Given the description of an element on the screen output the (x, y) to click on. 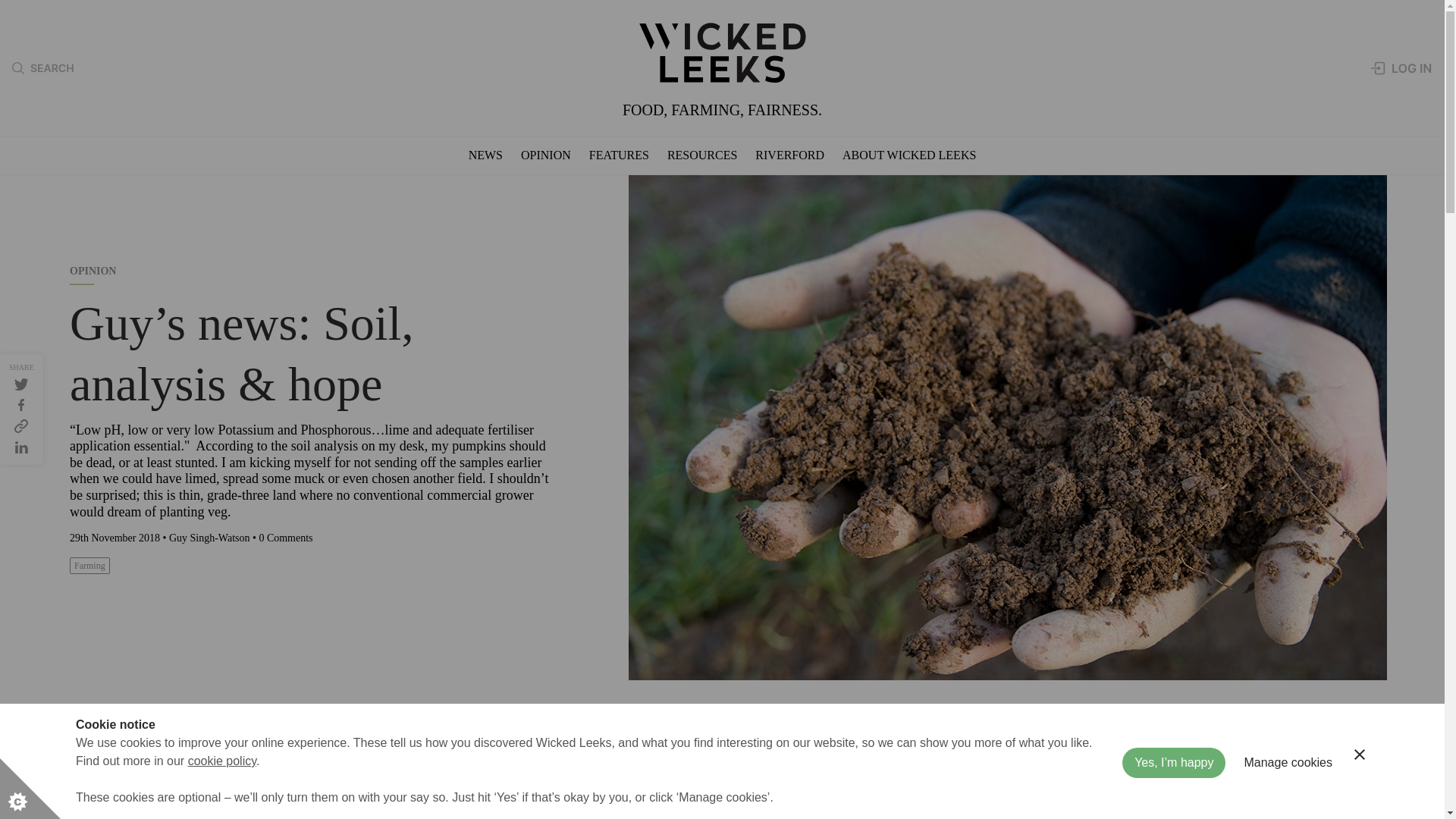
NEWS (486, 155)
FEATURES (618, 155)
RIVERFORD (788, 155)
Manage cookies (1287, 803)
RESOURCES (701, 155)
OPINION (545, 155)
ABOUT WICKED LEEKS (908, 155)
Posts by Guy Singh-Watson (209, 537)
